Given the description of an element on the screen output the (x, y) to click on. 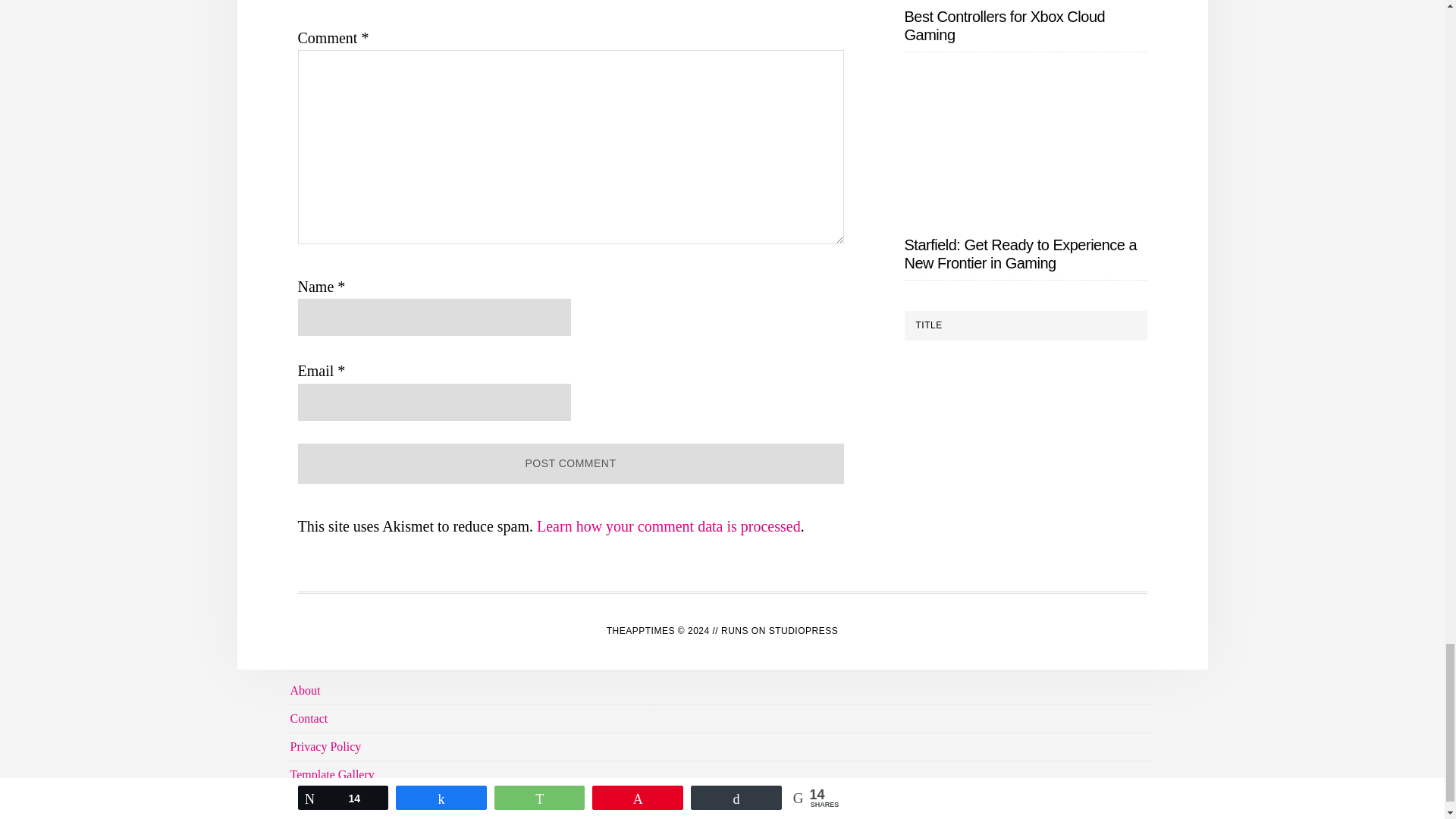
Post Comment (570, 463)
Post Comment (570, 463)
Learn how your comment data is processed (668, 525)
